Given the description of an element on the screen output the (x, y) to click on. 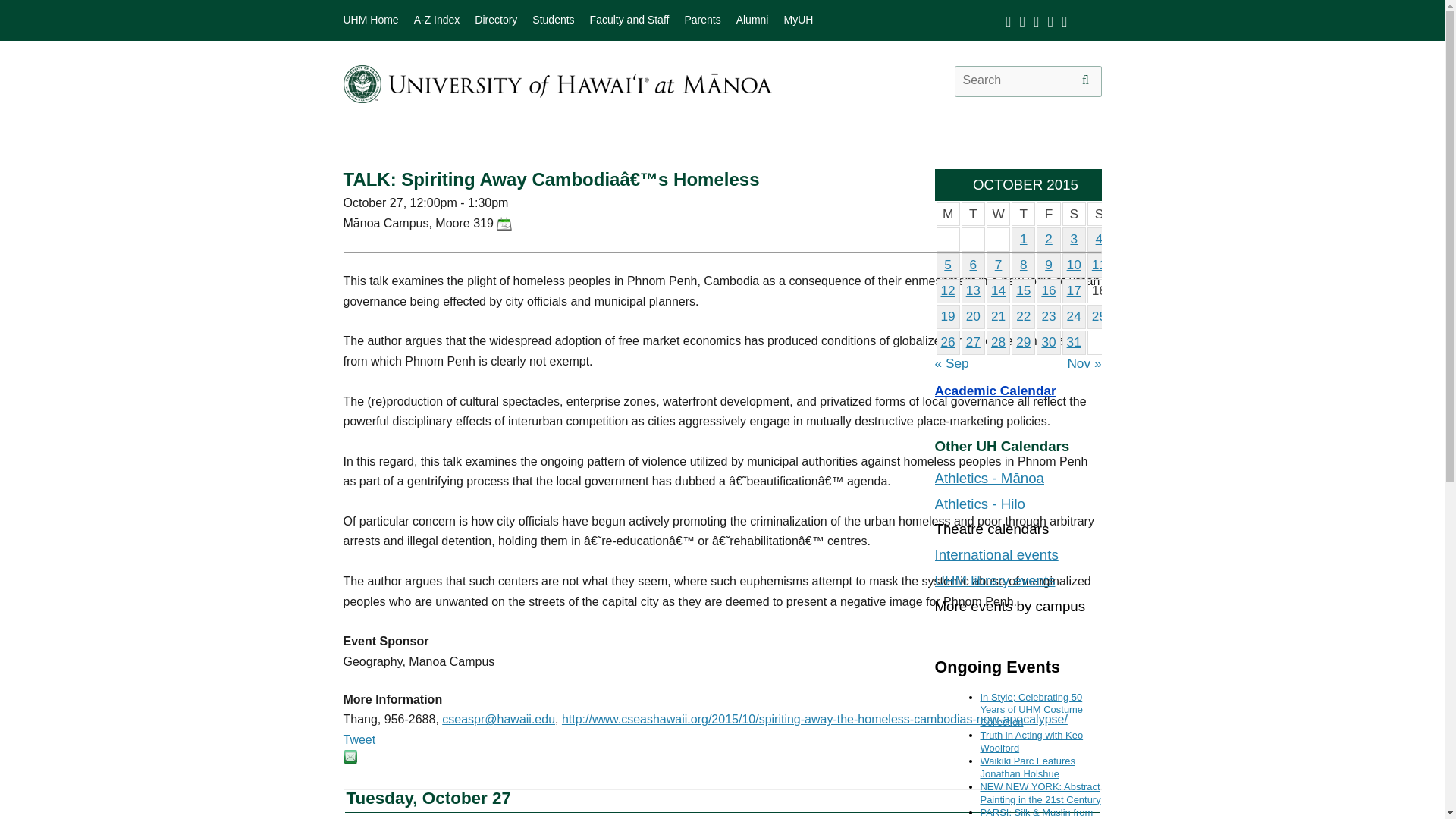
11 (1099, 264)
MyUH (797, 19)
Alumni (752, 19)
10 (1074, 264)
12 (947, 290)
Directory (495, 19)
UHM Home (369, 19)
Parents (702, 19)
Tweet (358, 739)
